Given the description of an element on the screen output the (x, y) to click on. 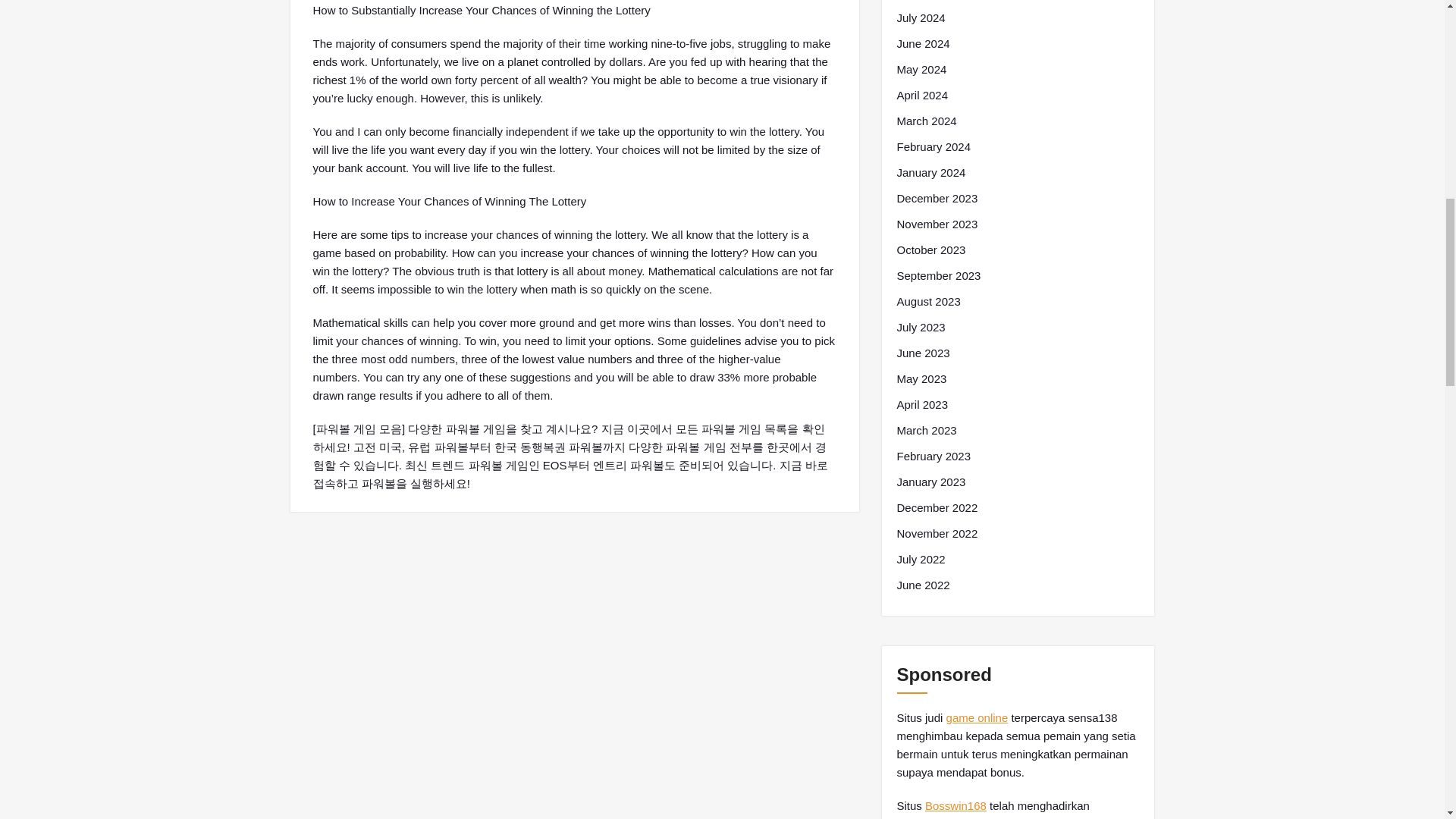
December 2022 (936, 507)
July 2023 (920, 327)
March 2024 (926, 121)
April 2024 (921, 95)
December 2023 (936, 198)
November 2023 (936, 224)
April 2023 (921, 404)
May 2024 (921, 69)
June 2024 (922, 44)
January 2024 (930, 172)
May 2023 (921, 379)
September 2023 (937, 275)
February 2024 (933, 147)
June 2022 (922, 585)
July 2022 (920, 559)
